Given the description of an element on the screen output the (x, y) to click on. 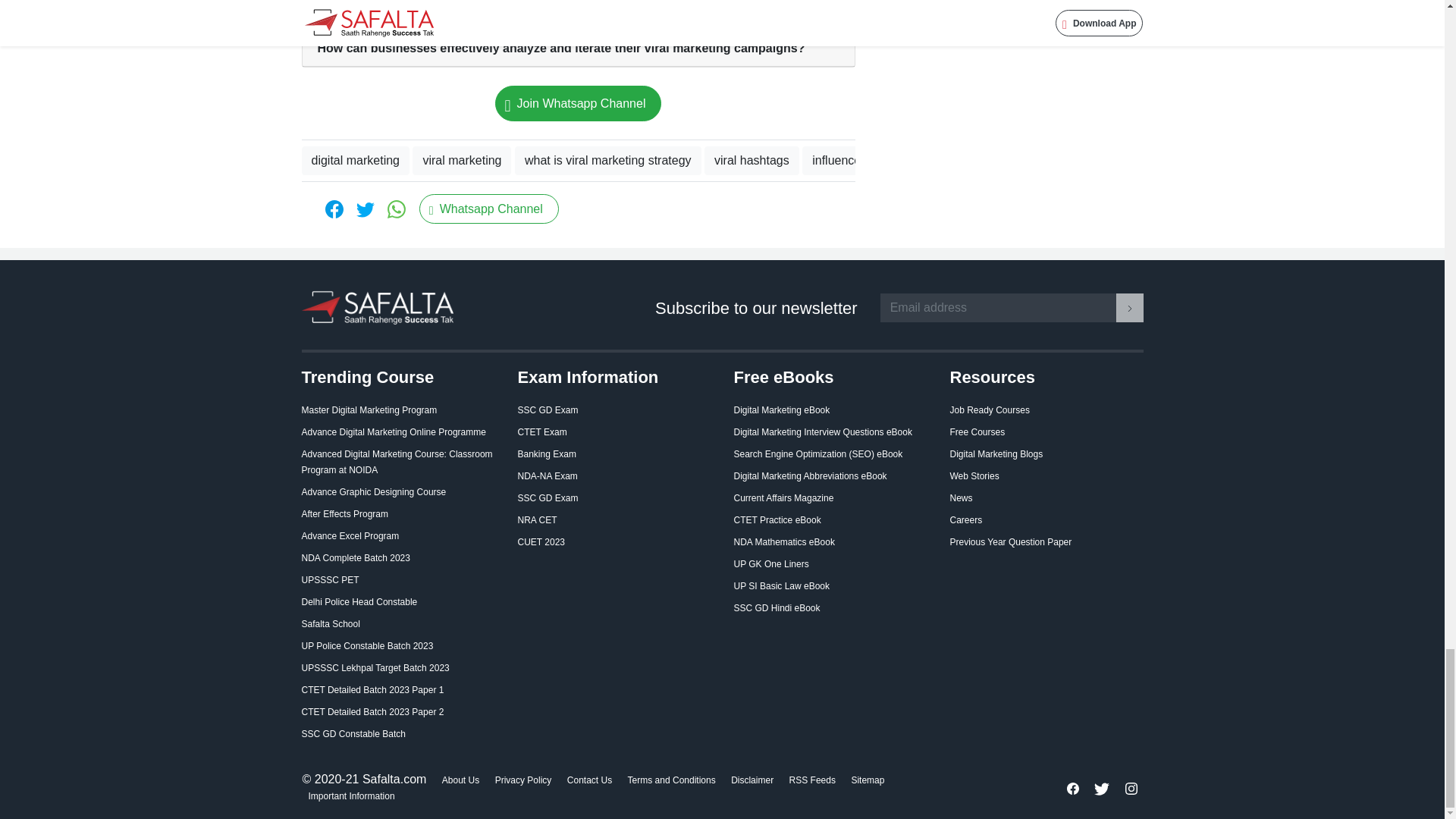
follow our whatsapp channel (489, 208)
follow our whatsapp channel (578, 103)
Join Whatsapp Channel (578, 103)
viral marketing (461, 160)
what is viral marketing strategy (608, 160)
digital marketing (355, 160)
